Given the description of an element on the screen output the (x, y) to click on. 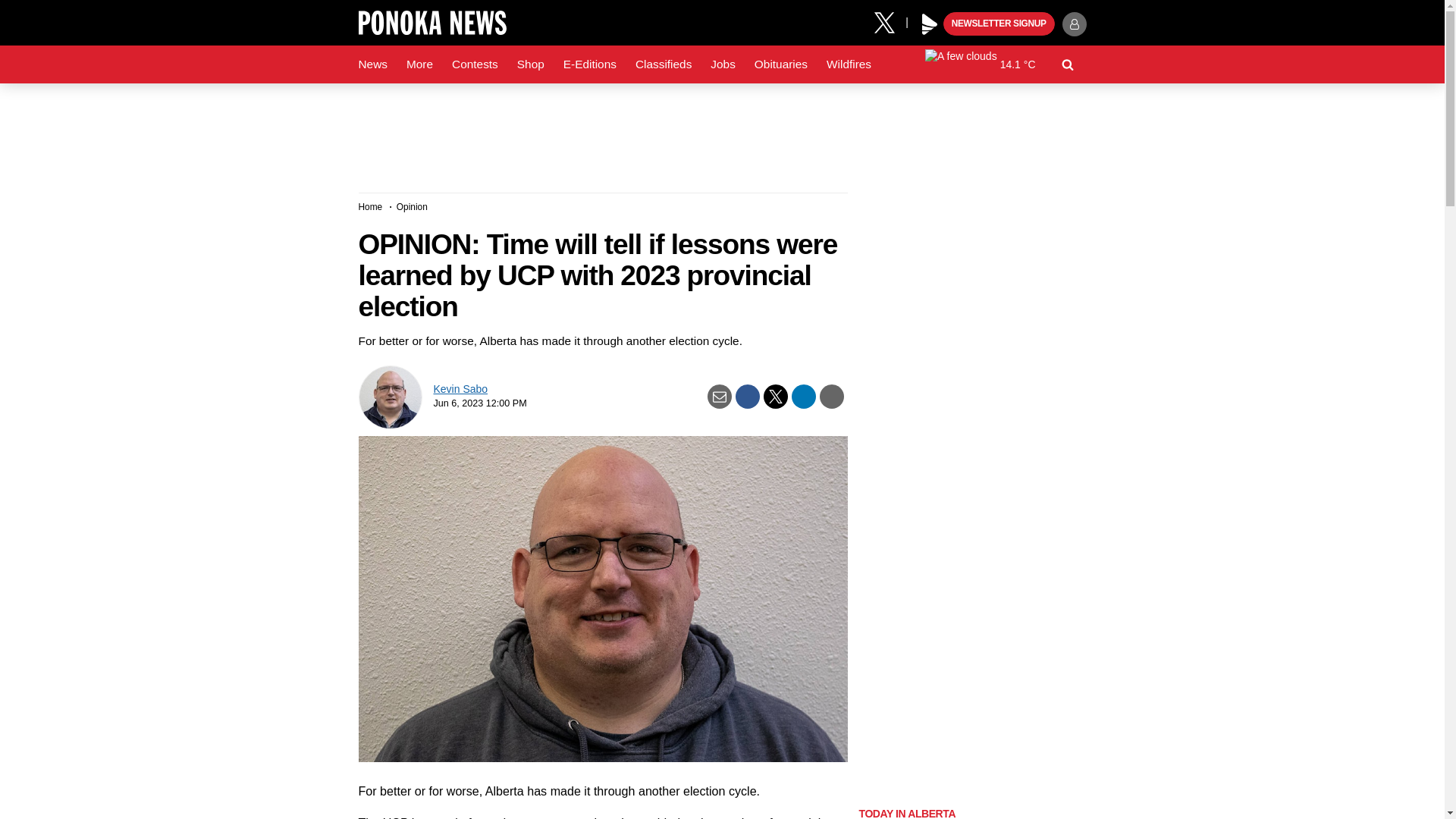
NEWSLETTER SIGNUP (998, 24)
News (372, 64)
X (889, 21)
Play (929, 24)
Black Press Media (929, 24)
